Given the description of an element on the screen output the (x, y) to click on. 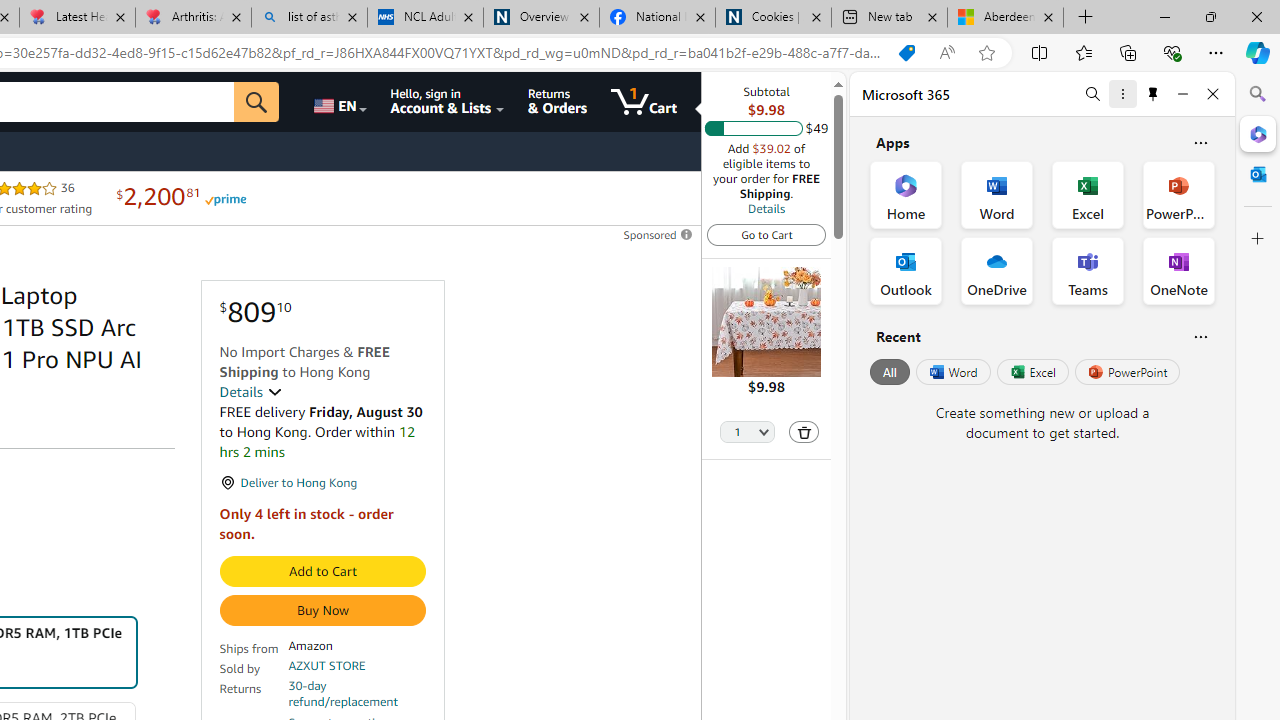
Returns & Orders (557, 101)
All (890, 372)
30-day refund/replacement (357, 693)
PowerPoint Office App (1178, 194)
Go to Cart (766, 234)
AZXUT STORE (327, 665)
Excel Office App (1087, 194)
Hello, sign in Account & Lists (447, 101)
Buy Now (322, 610)
